Given the description of an element on the screen output the (x, y) to click on. 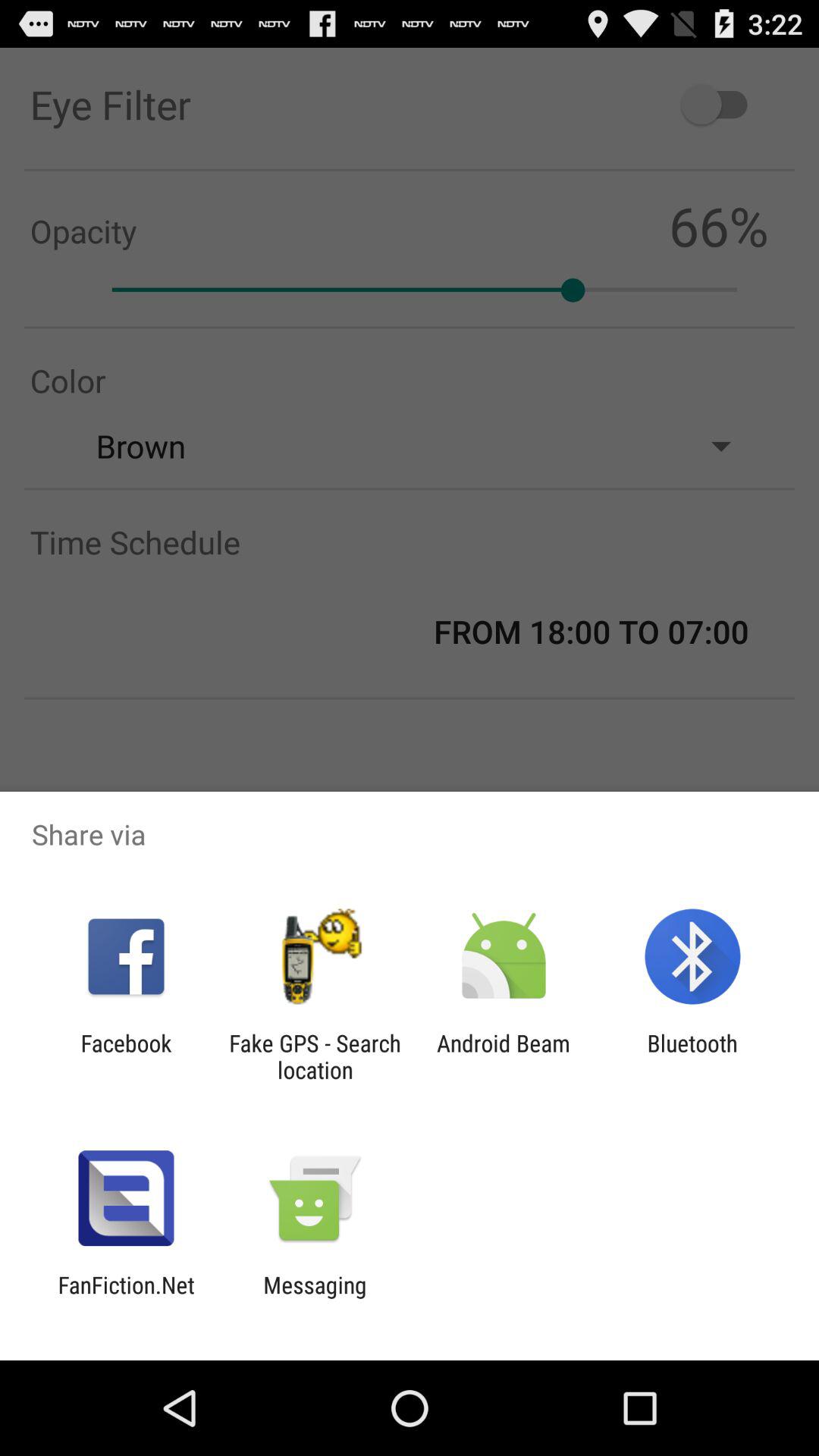
press fanfiction.net item (126, 1298)
